Given the description of an element on the screen output the (x, y) to click on. 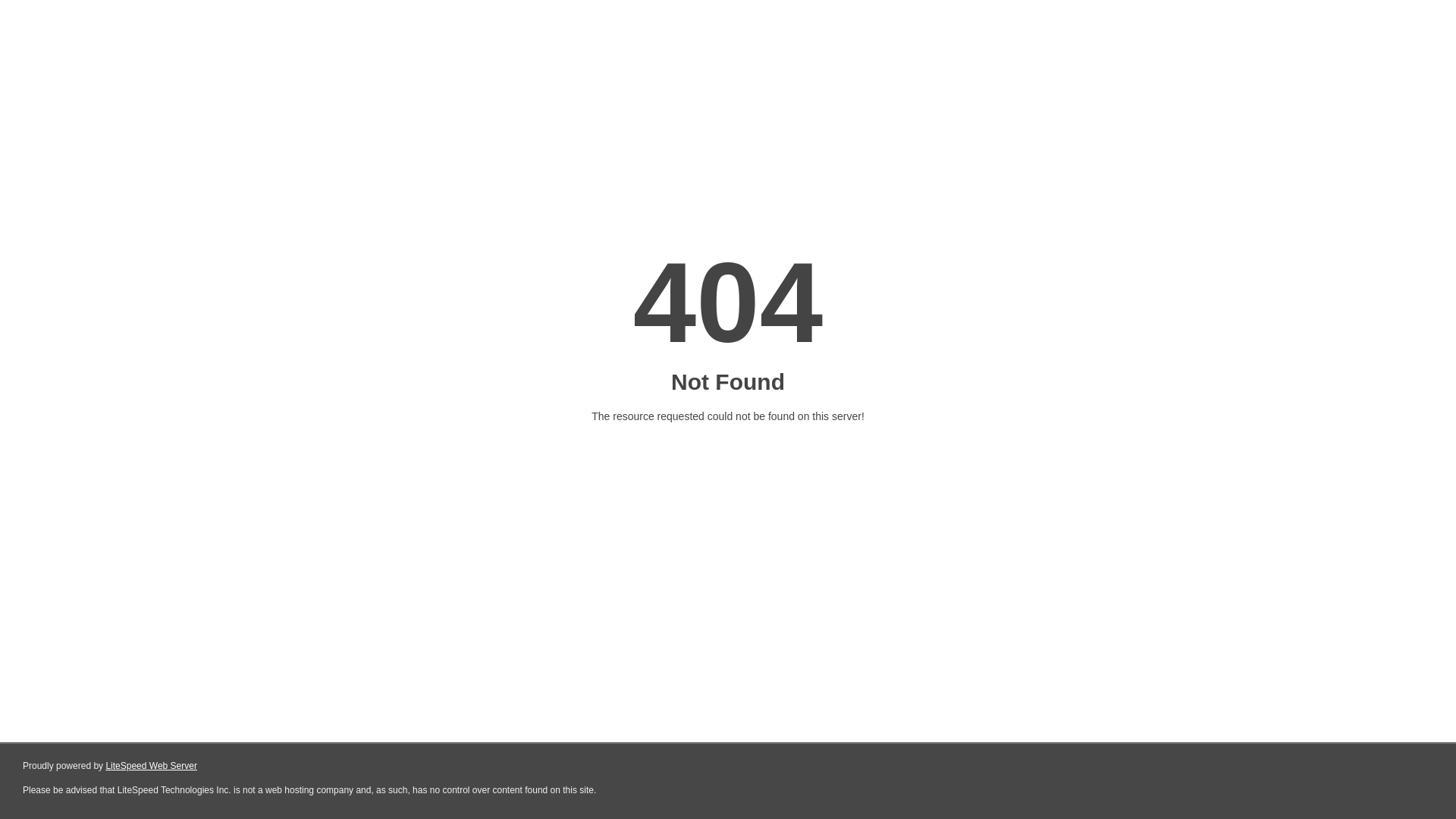
LiteSpeed Web Server Element type: text (151, 765)
